Given the description of an element on the screen output the (x, y) to click on. 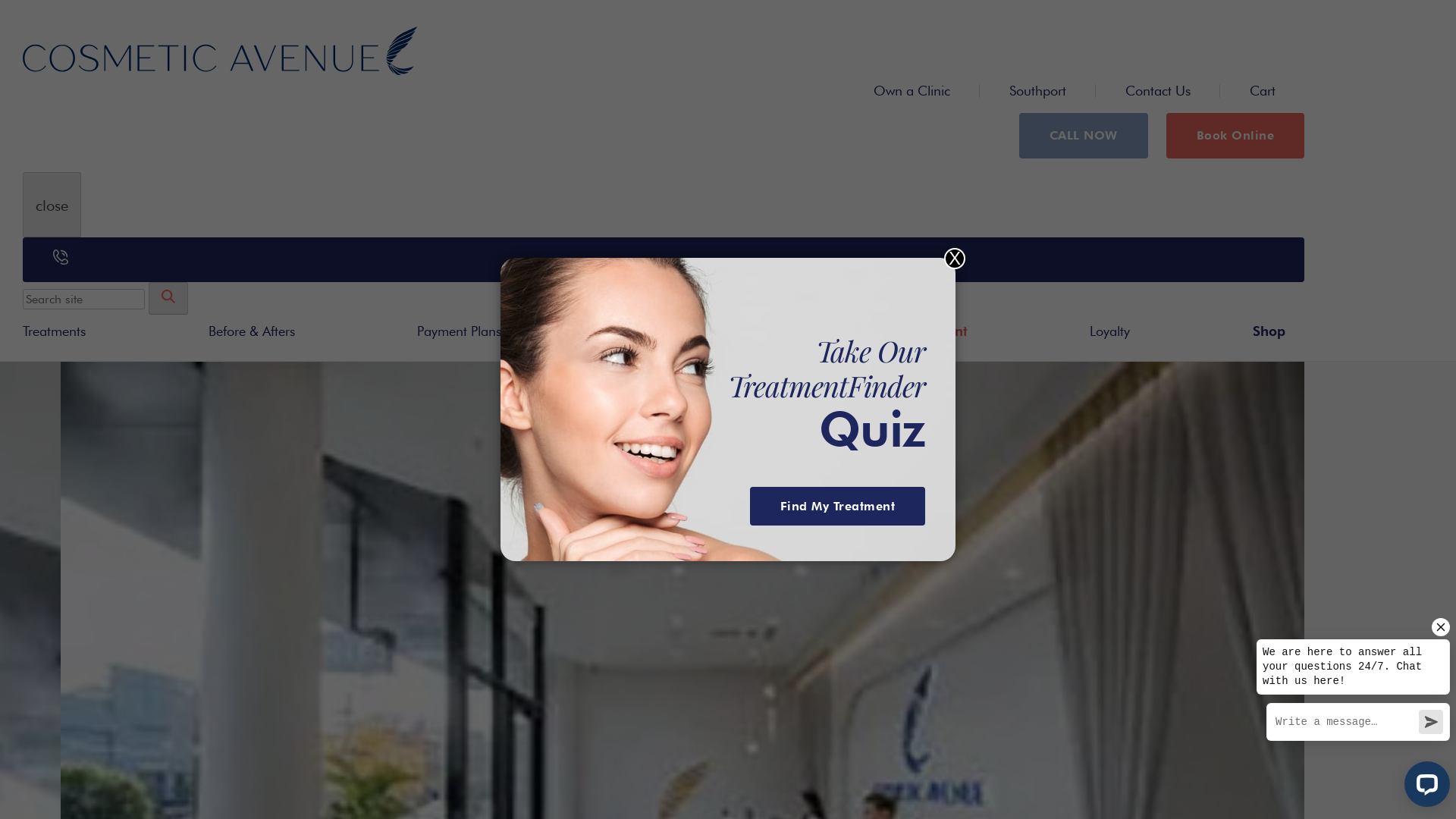
Find Your Treatment Element type: text (902, 331)
Southport Element type: text (1036, 90)
Book Online Element type: text (1235, 135)
Payment Plans Element type: text (459, 331)
Own a Clinic Element type: text (911, 90)
Before & Afters Element type: text (251, 331)
Find My Treatment Element type: text (837, 505)
CALL NOW Element type: text (1083, 135)
Treatments Element type: text (53, 331)
X Element type: text (954, 258)
Contact Us Element type: text (1157, 90)
Cart Element type: text (1262, 90)
Instant Quote Element type: text (669, 331)
close Element type: text (51, 204)
Loyalty Element type: text (1109, 331)
Shop Element type: text (1268, 331)
